Given the description of an element on the screen output the (x, y) to click on. 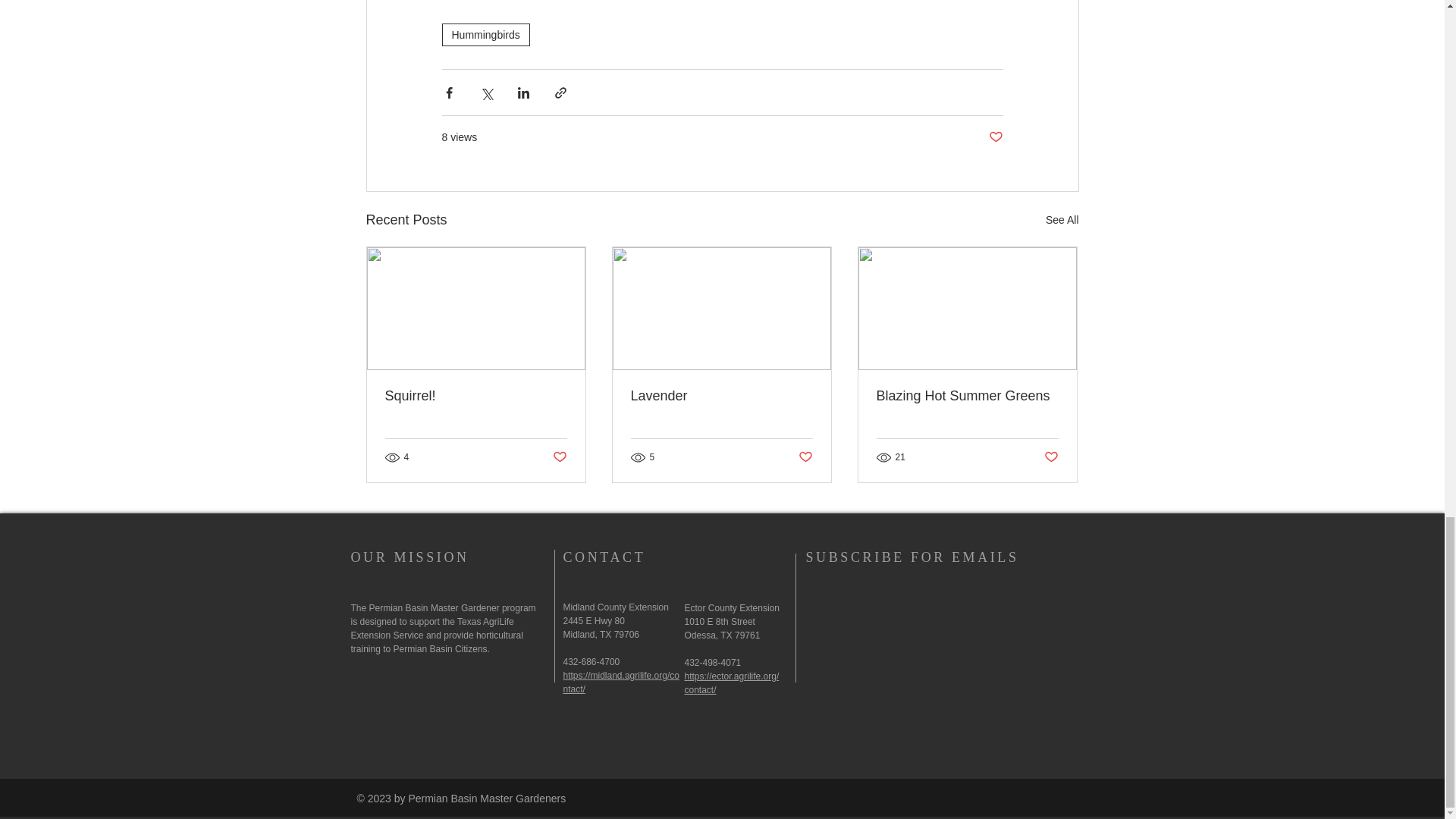
Hummingbirds (485, 34)
Post not marked as liked (995, 137)
Squirrel! (476, 396)
See All (1061, 219)
